Given the description of an element on the screen output the (x, y) to click on. 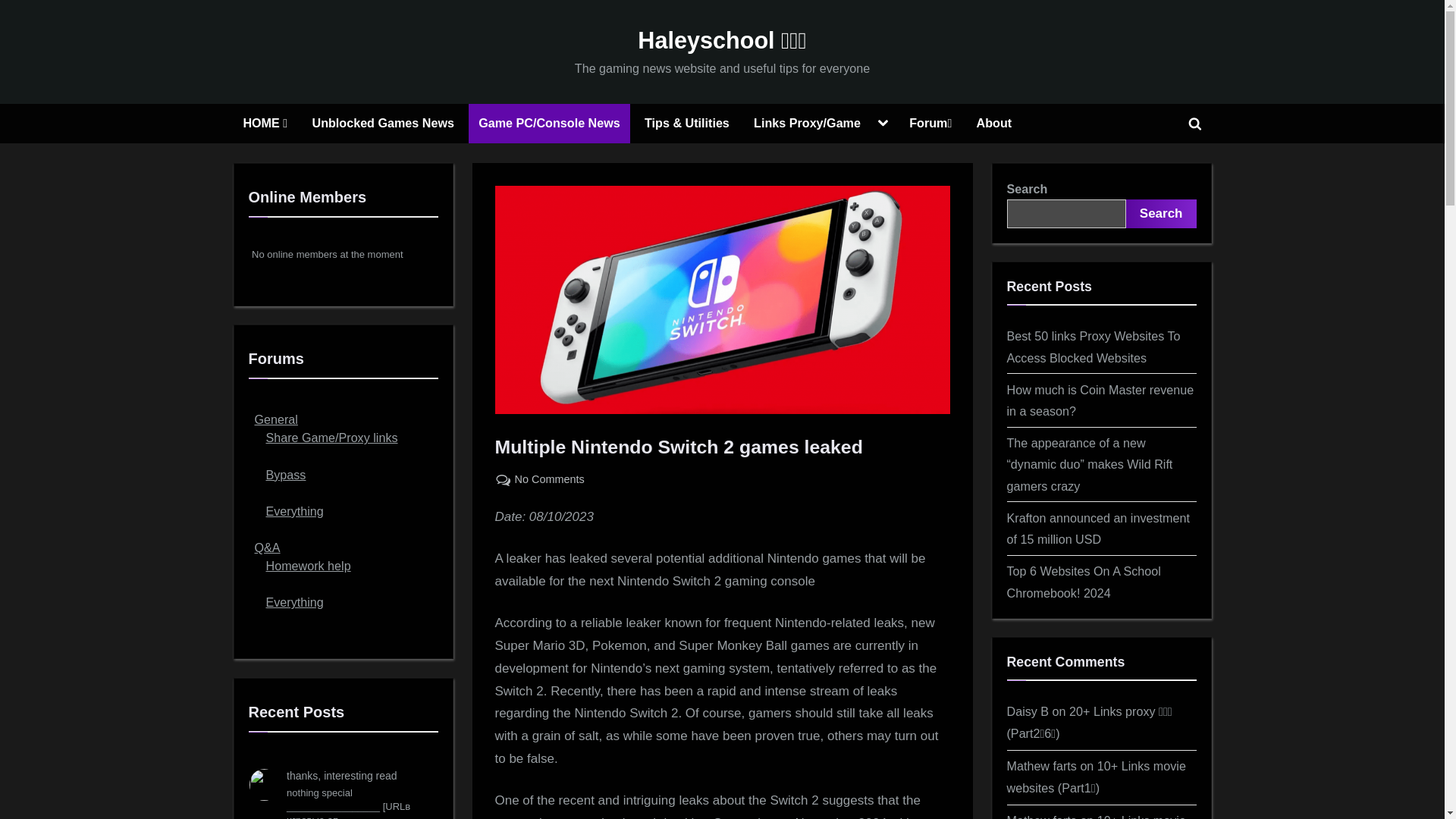
Toggle sub-menu (883, 123)
Unblocked Games News (383, 123)
